Given the description of an element on the screen output the (x, y) to click on. 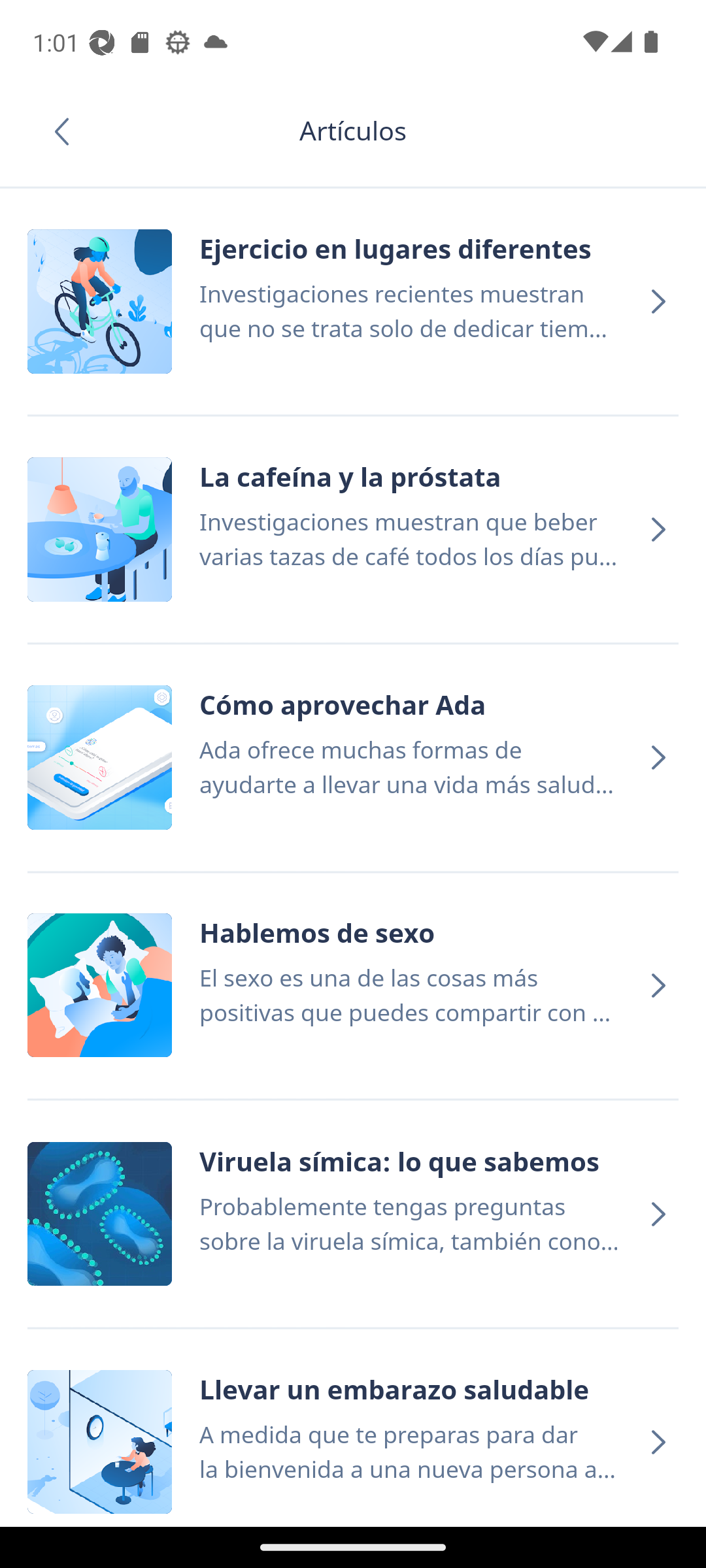
Go back, Navigates to the previous screen (68, 131)
